Given the description of an element on the screen output the (x, y) to click on. 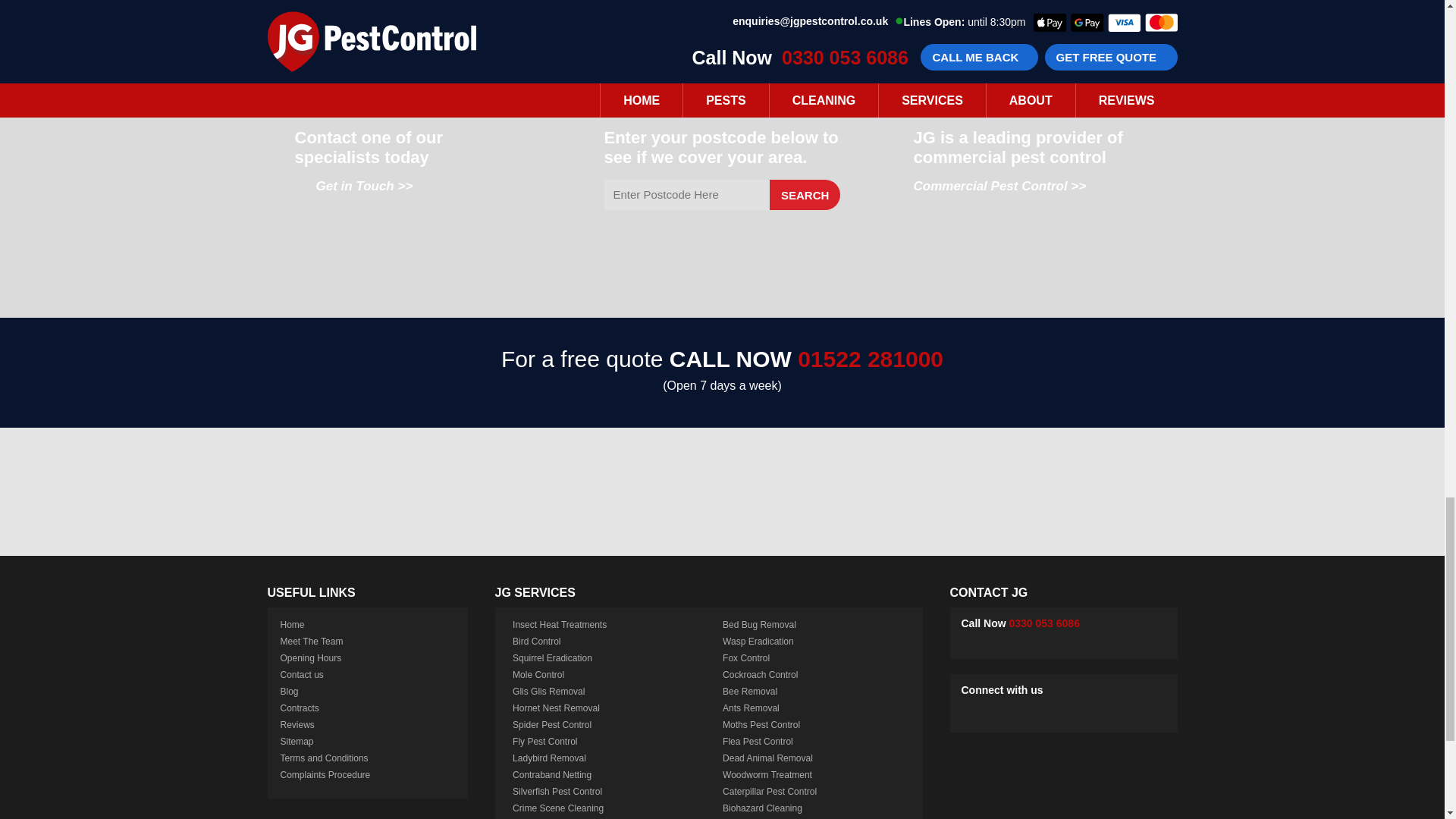
Search (805, 194)
